Given the description of an element on the screen output the (x, y) to click on. 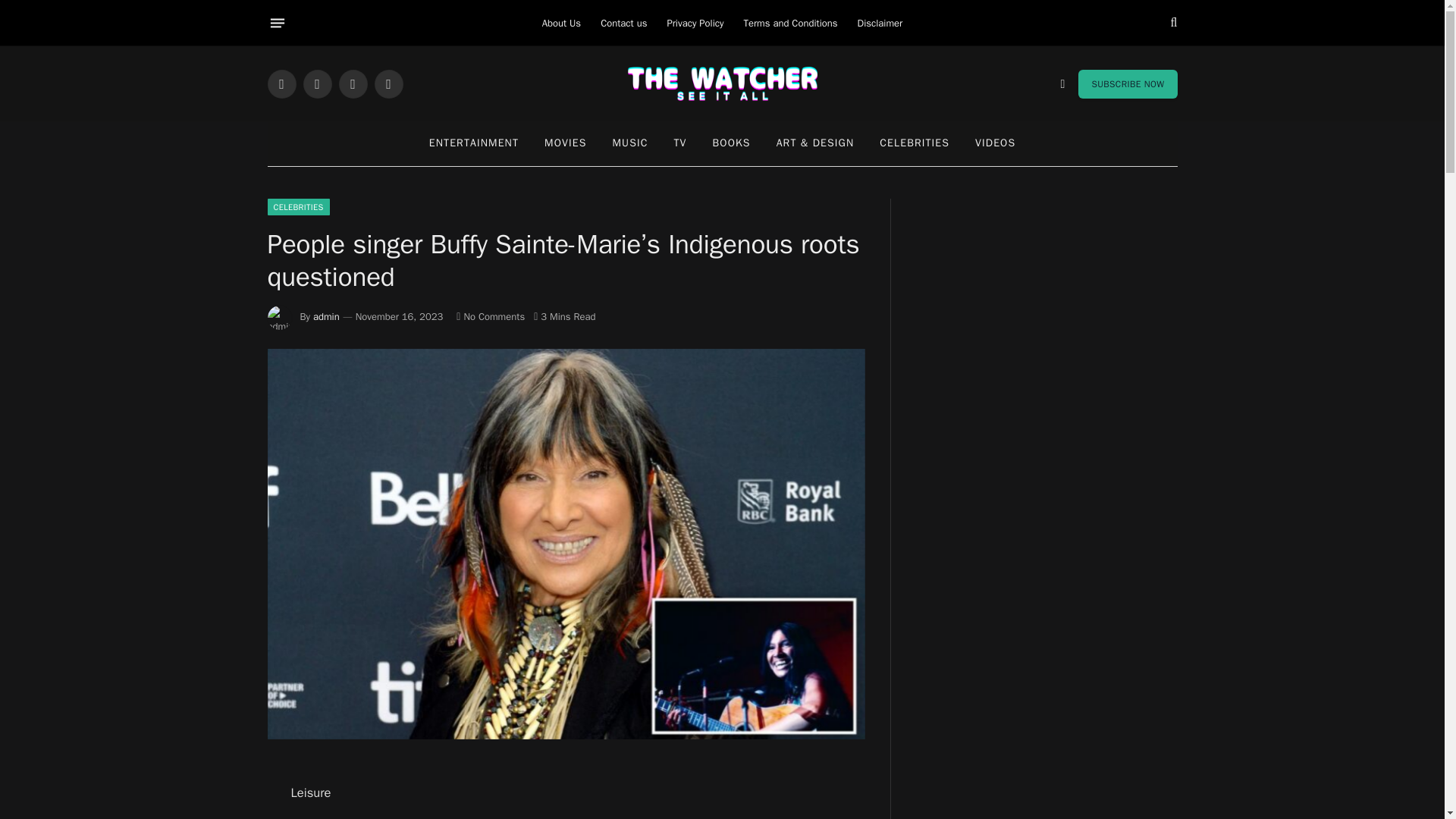
BOOKS (731, 143)
Contact us (623, 22)
CELEBRITIES (297, 207)
MUSIC (629, 143)
CELEBRITIES (914, 143)
About Us (561, 22)
Privacy Policy (694, 22)
Facebook (280, 83)
Terms and Conditions (790, 22)
MOVIES (564, 143)
